Given the description of an element on the screen output the (x, y) to click on. 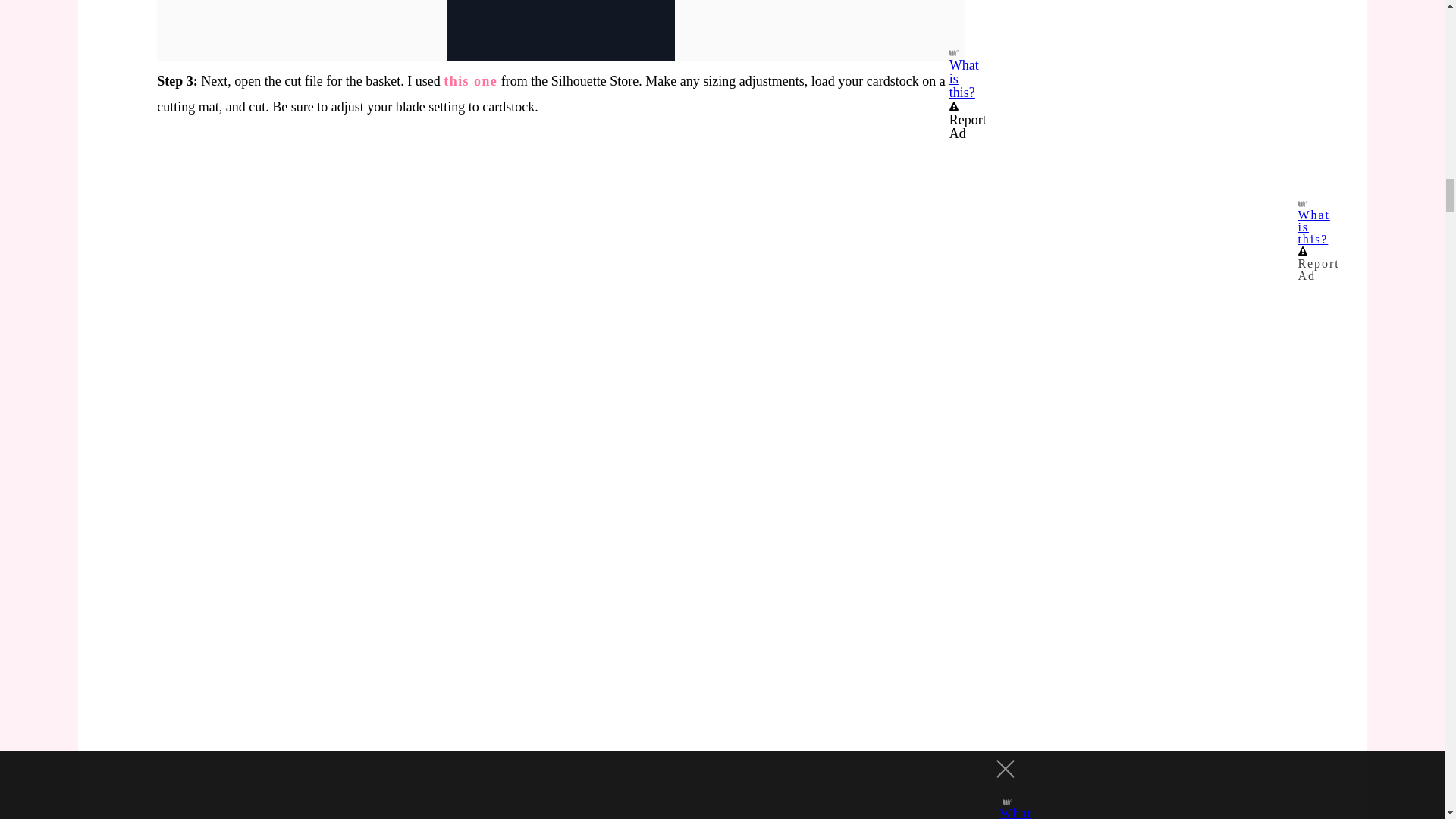
this one (470, 80)
